Given the description of an element on the screen output the (x, y) to click on. 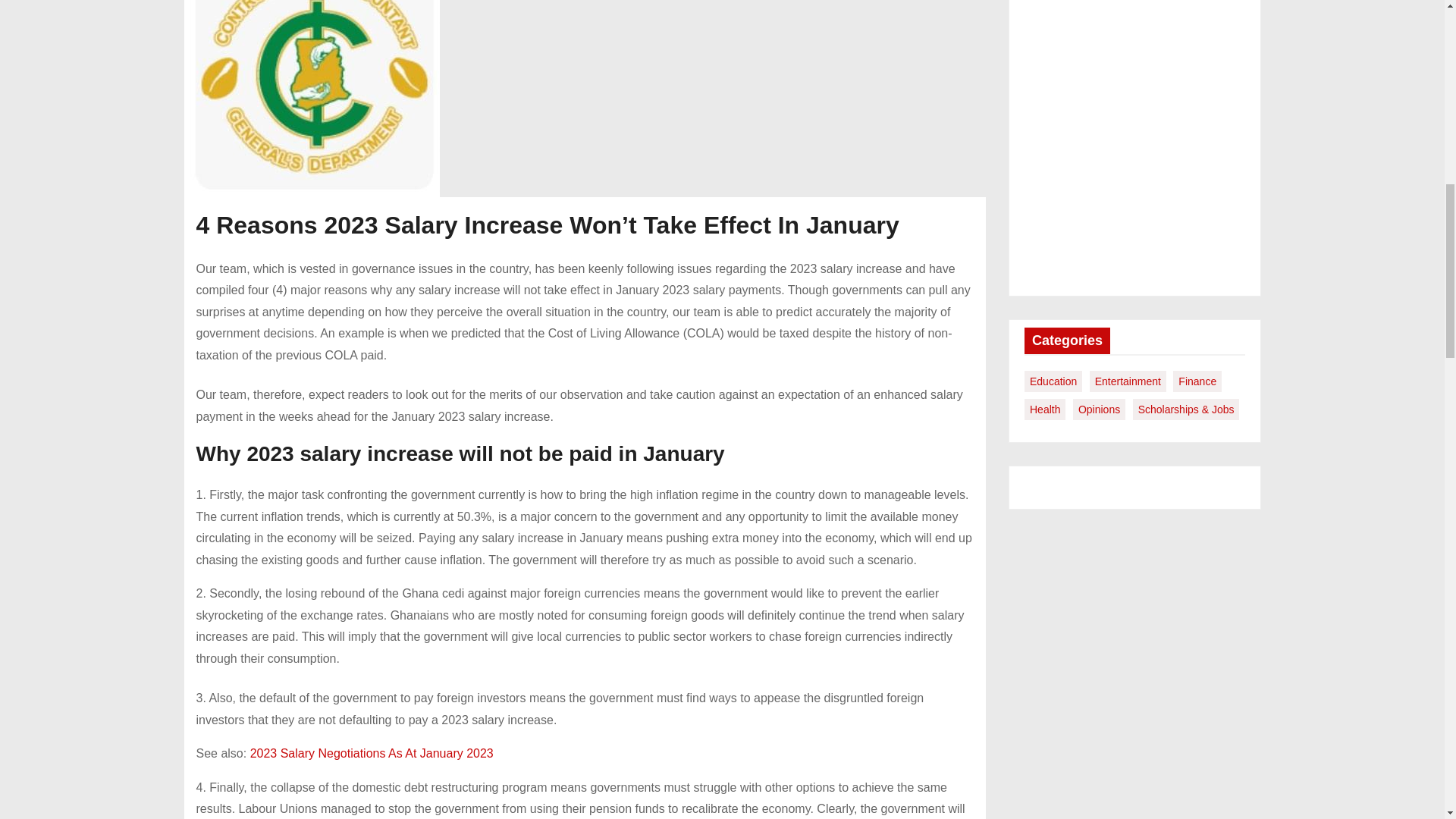
2023 Salary Negotiations As At January 2023 (371, 753)
